Given the description of an element on the screen output the (x, y) to click on. 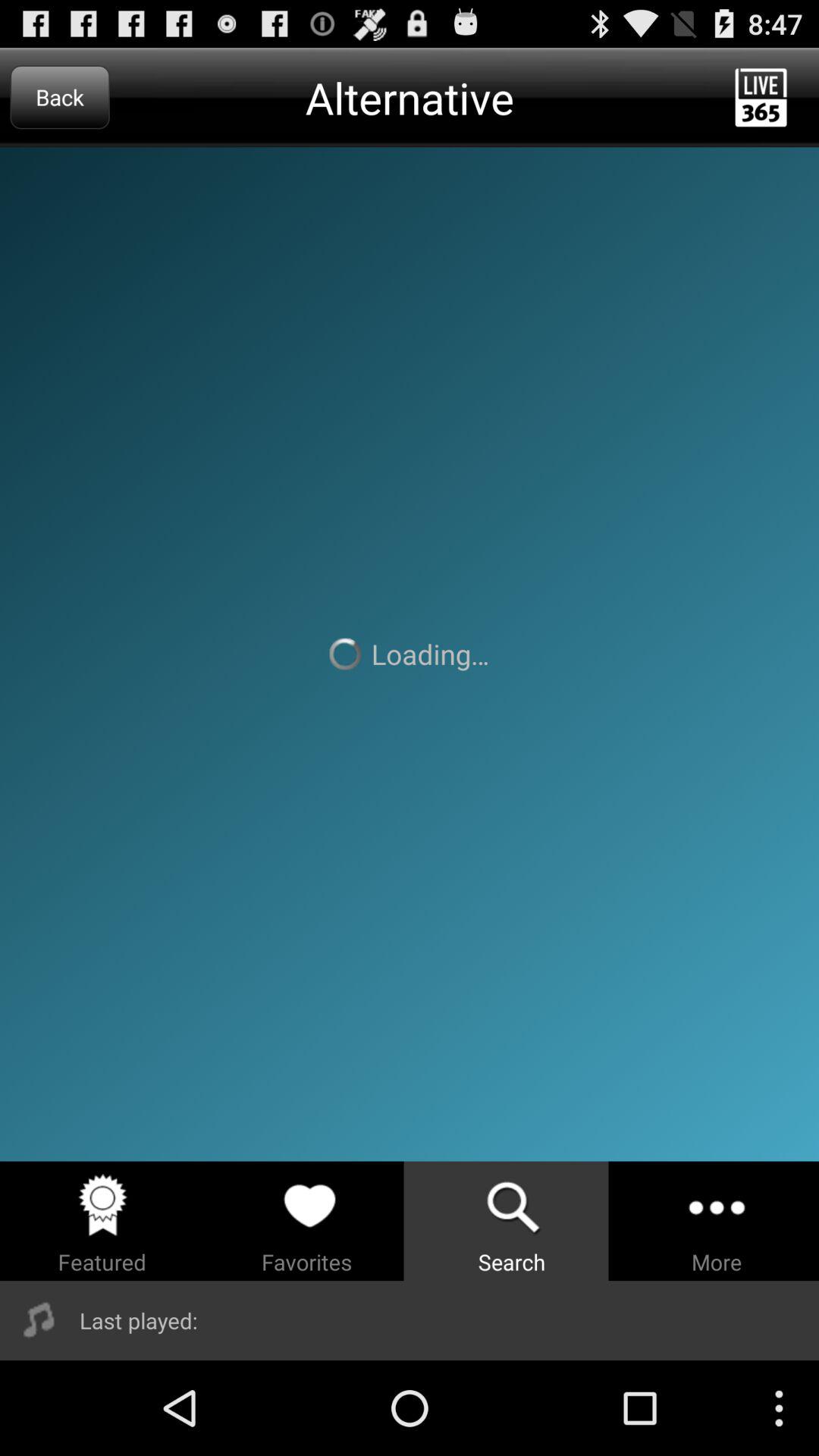
choose the back item (59, 97)
